Given the description of an element on the screen output the (x, y) to click on. 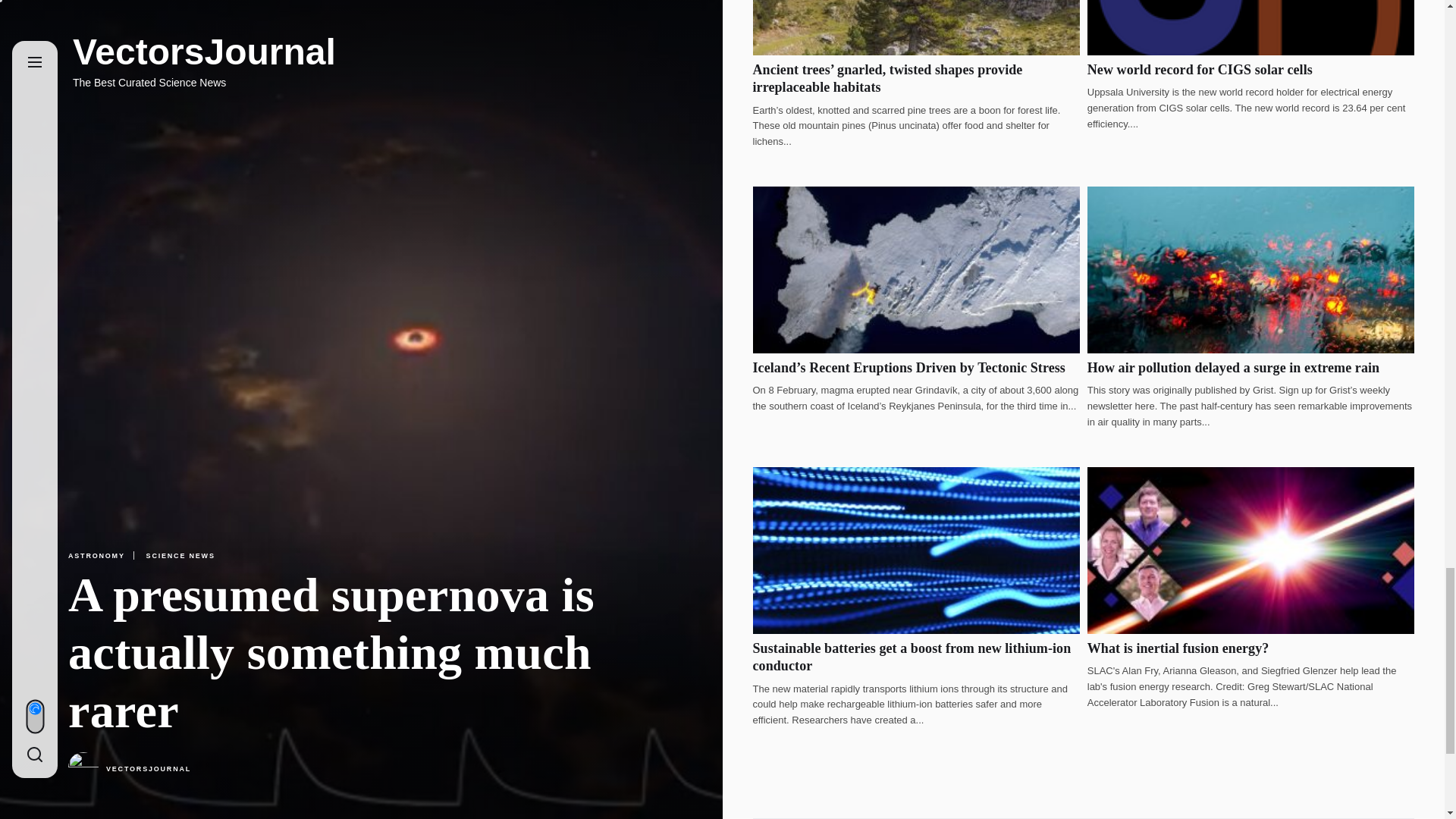
How air pollution delayed a surge in extreme rain (1232, 367)
New world record for CIGS solar cells (1200, 69)
What is inertial fusion energy? (1178, 648)
